Given the description of an element on the screen output the (x, y) to click on. 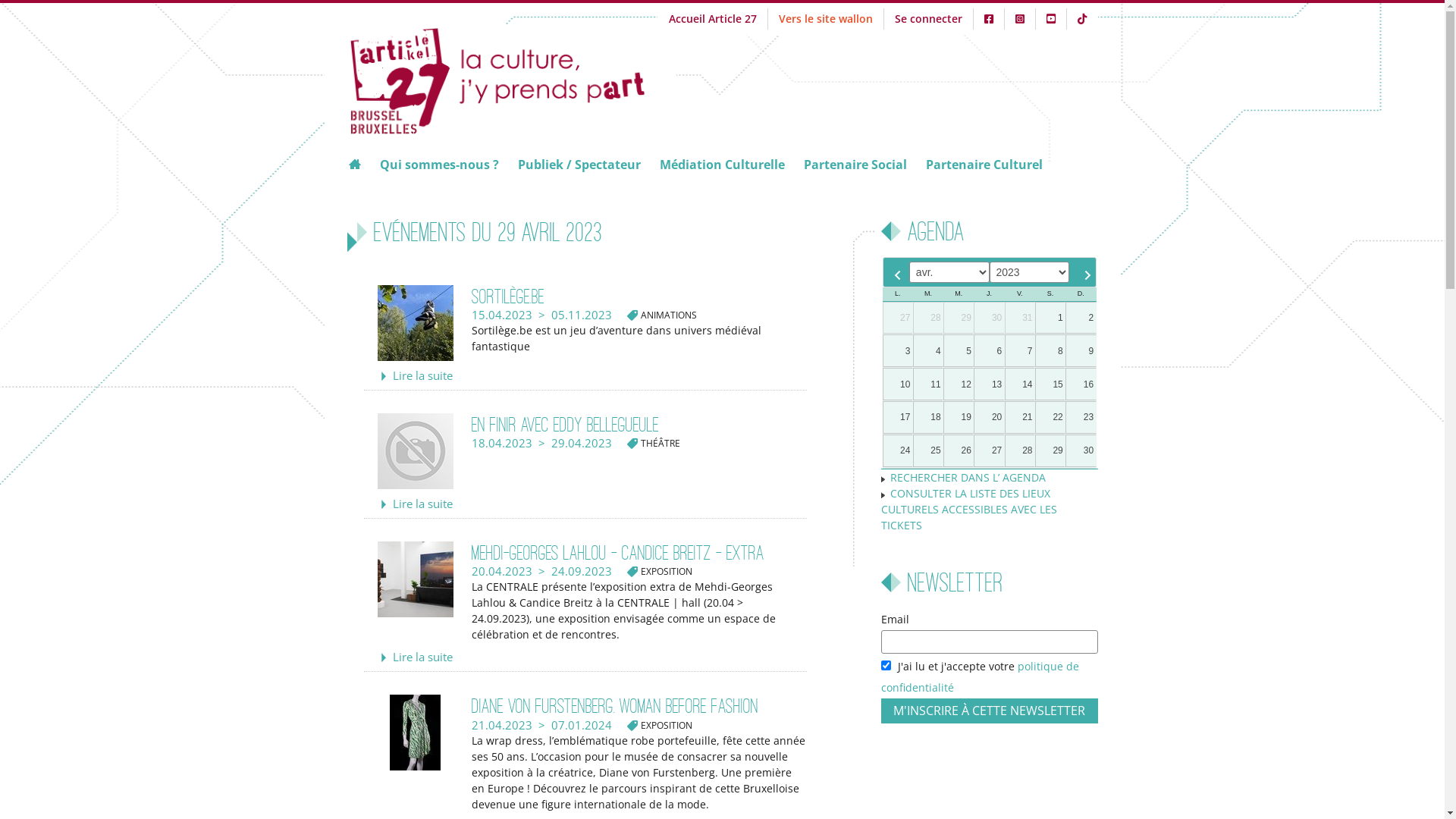
28 Element type: text (1019, 450)
2 Element type: text (1080, 317)
Qui sommes-nous ? Element type: text (438, 164)
29 Element type: text (958, 317)
Vers le site wallon Element type: text (824, 18)
23 Element type: text (1080, 417)
17 Element type: text (897, 417)
Partenaire Culturel Element type: text (983, 164)
26 Element type: text (958, 450)
3 Element type: text (897, 350)
8 Element type: text (1050, 350)
Publiek / Spectateur Element type: text (578, 164)
Lire la suite Element type: text (422, 656)
Accueil Article 27 Element type: text (712, 18)
29 Element type: text (1050, 450)
25 Element type: text (928, 450)
15 Element type: text (1050, 383)
Lire la suite Element type: text (422, 503)
31 Element type: text (1019, 317)
27 Element type: text (988, 450)
21 Element type: text (1019, 417)
22 Element type: text (1050, 417)
7 Element type: text (1019, 350)
1 Element type: text (1050, 317)
24 Element type: text (897, 450)
Mois suivant Element type: text (1084, 272)
19 Element type: text (958, 417)
11 Element type: text (928, 383)
18 Element type: text (928, 417)
Accueil Element type: hover (511, 78)
5 Element type: text (958, 350)
28 Element type: text (928, 317)
4 Element type: text (928, 350)
6 Element type: text (988, 350)
20 Element type: text (988, 417)
9 Element type: text (1080, 350)
30 Element type: text (988, 317)
12 Element type: text (958, 383)
30 Element type: text (1080, 450)
14 Element type: text (1019, 383)
27 Element type: text (897, 317)
Se connecter Element type: text (928, 18)
Lire la suite Element type: text (422, 374)
Accueil Element type: hover (357, 164)
13 Element type: text (988, 383)
10 Element type: text (897, 383)
Partenaire Social Element type: text (855, 164)
16 Element type: text (1080, 383)
